Given the description of an element on the screen output the (x, y) to click on. 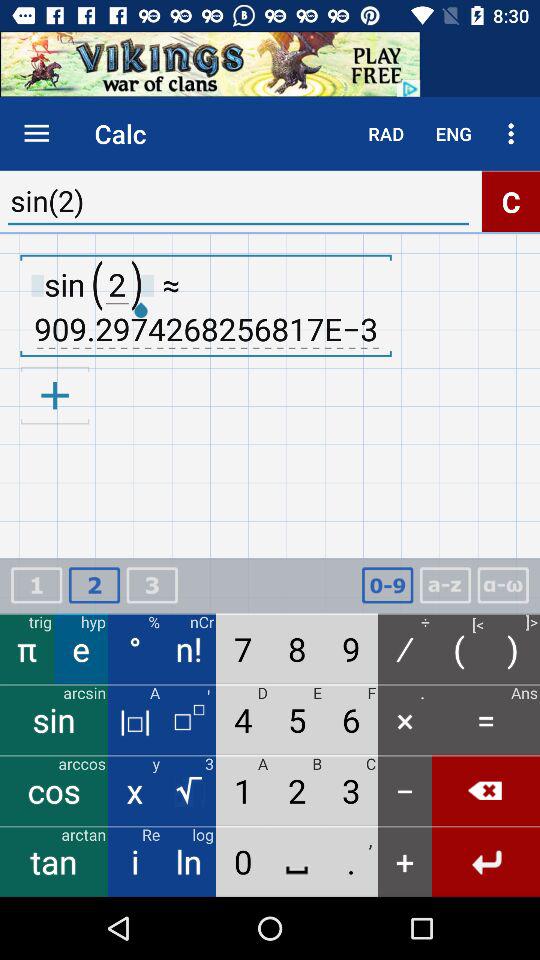
select numbers (387, 585)
